Given the description of an element on the screen output the (x, y) to click on. 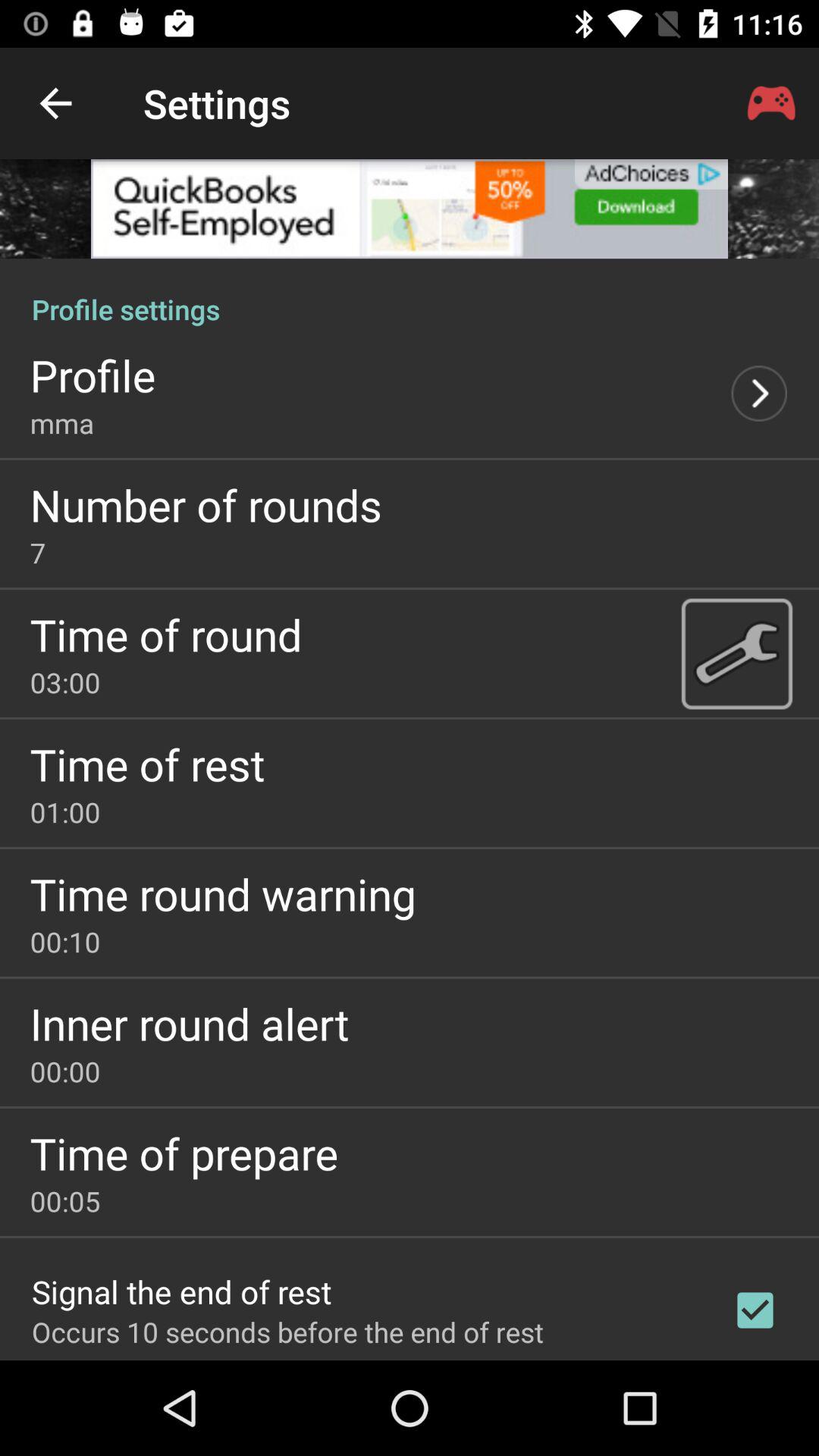
fix button (736, 653)
